Given the description of an element on the screen output the (x, y) to click on. 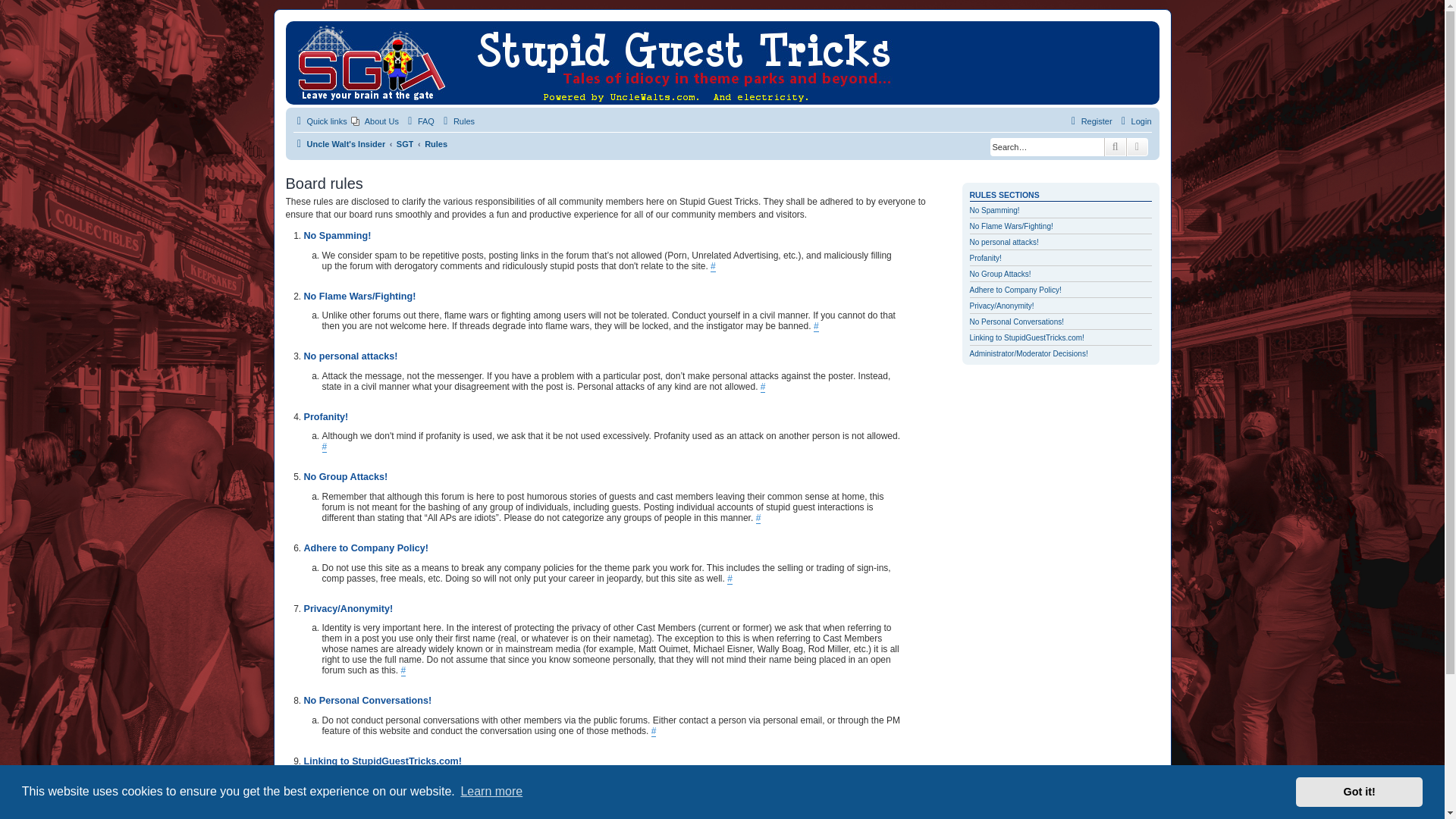
SGT (404, 144)
Search (1114, 147)
FAQ (418, 121)
Search for keywords (1046, 147)
Rules (435, 144)
Uncle Walt's Insider (338, 144)
About Us (374, 121)
Got it! (1358, 791)
Frequently Asked Questions (418, 121)
Adhere to Company Policy! (1015, 289)
Uncle Walt's Insider (298, 28)
Learn more (491, 791)
Advanced search (1137, 147)
Advanced search (1137, 147)
No personal attacks! (1003, 242)
